Given the description of an element on the screen output the (x, y) to click on. 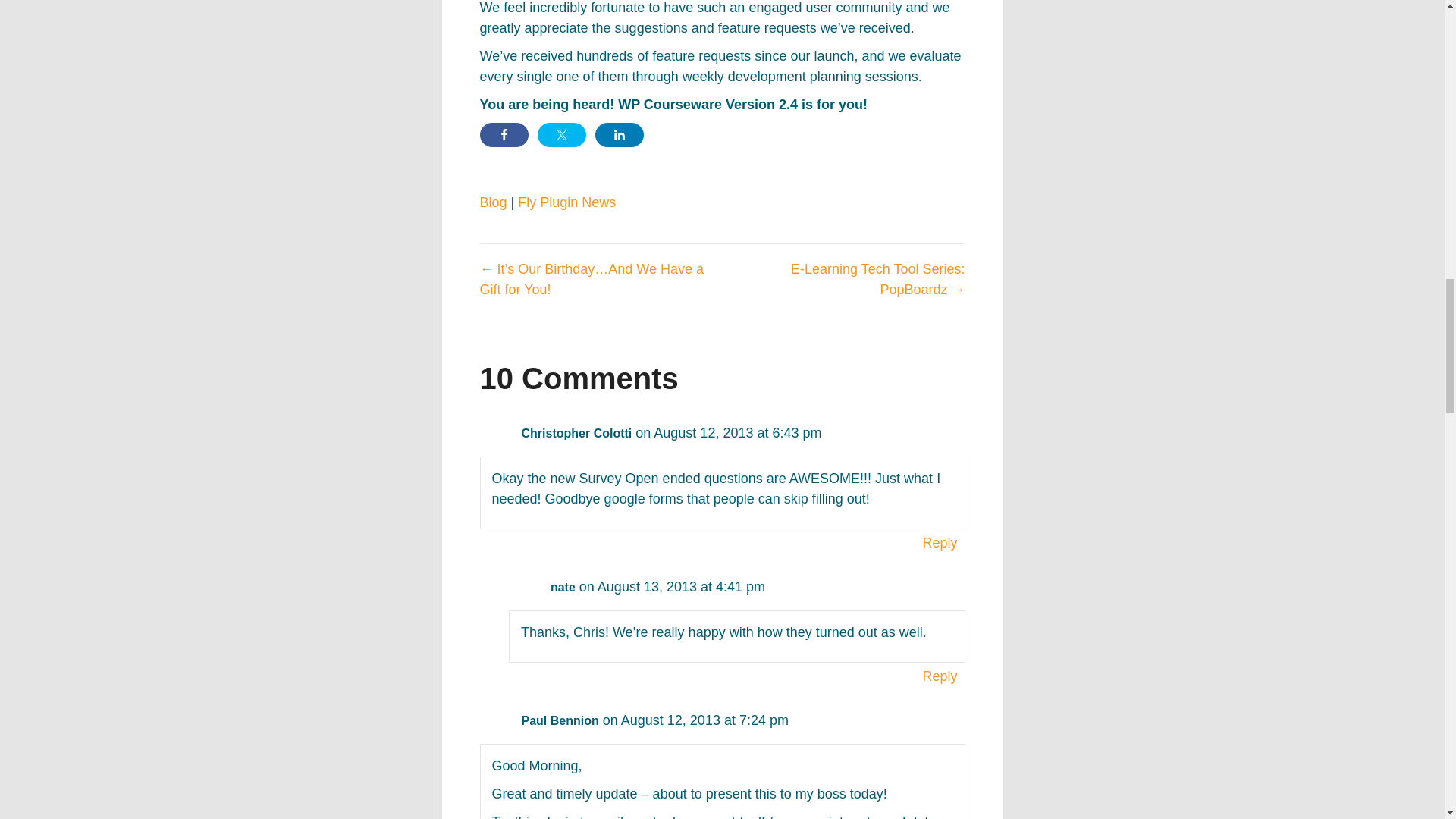
Reply (939, 542)
Reply (939, 676)
Share on Twitter (561, 134)
Share on LinkedIn (618, 134)
Blog (492, 201)
Fly Plugin News (566, 201)
Share on Facebook (503, 134)
